Given the description of an element on the screen output the (x, y) to click on. 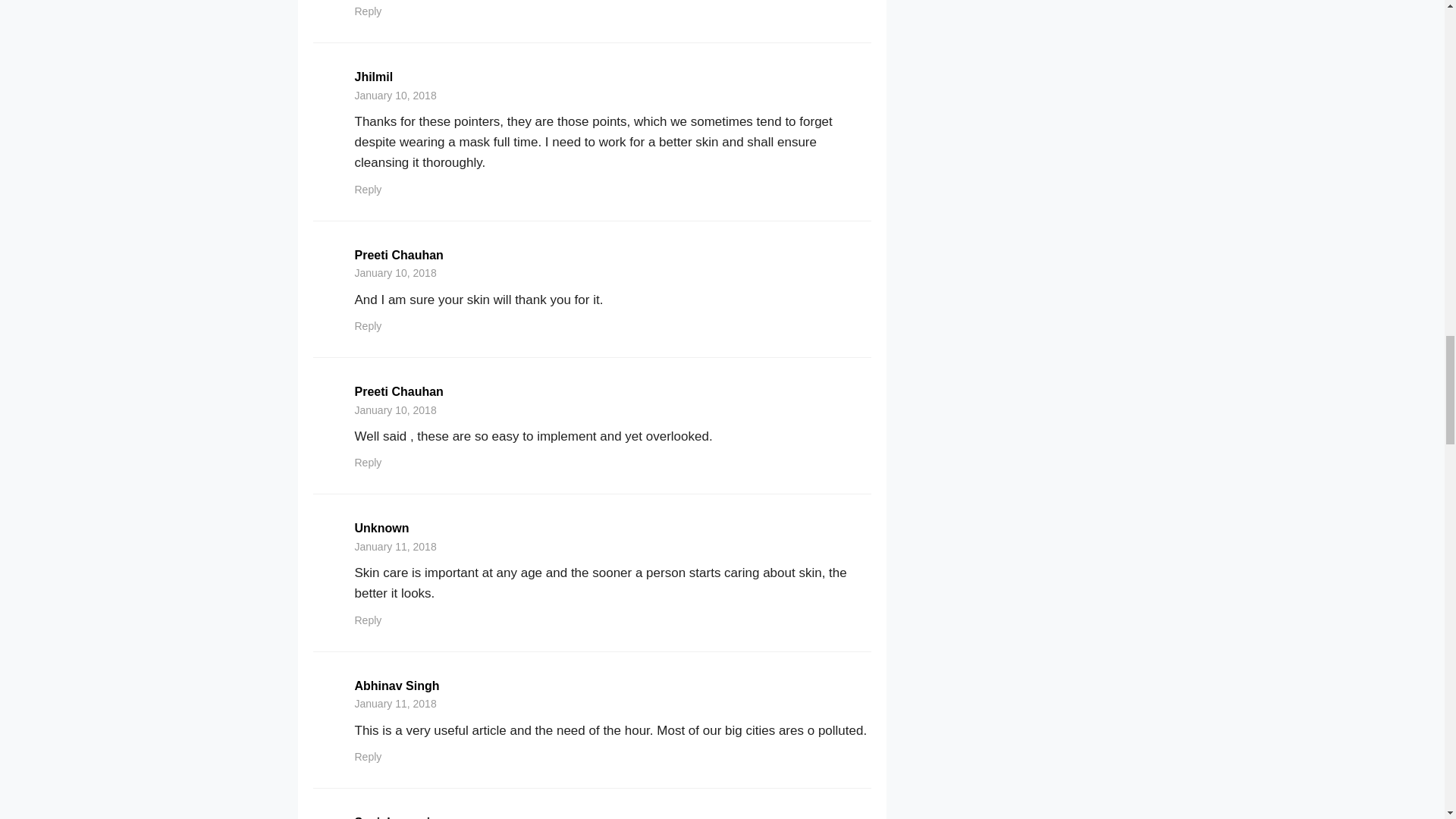
January 10, 2018 (395, 272)
Preeti Chauhan (399, 254)
January 10, 2018 (395, 410)
Jhilmil (374, 76)
January 10, 2018 (395, 95)
Reply (368, 189)
Reply (368, 326)
Preeti Chauhan (399, 391)
Reply (368, 10)
